Given the description of an element on the screen output the (x, y) to click on. 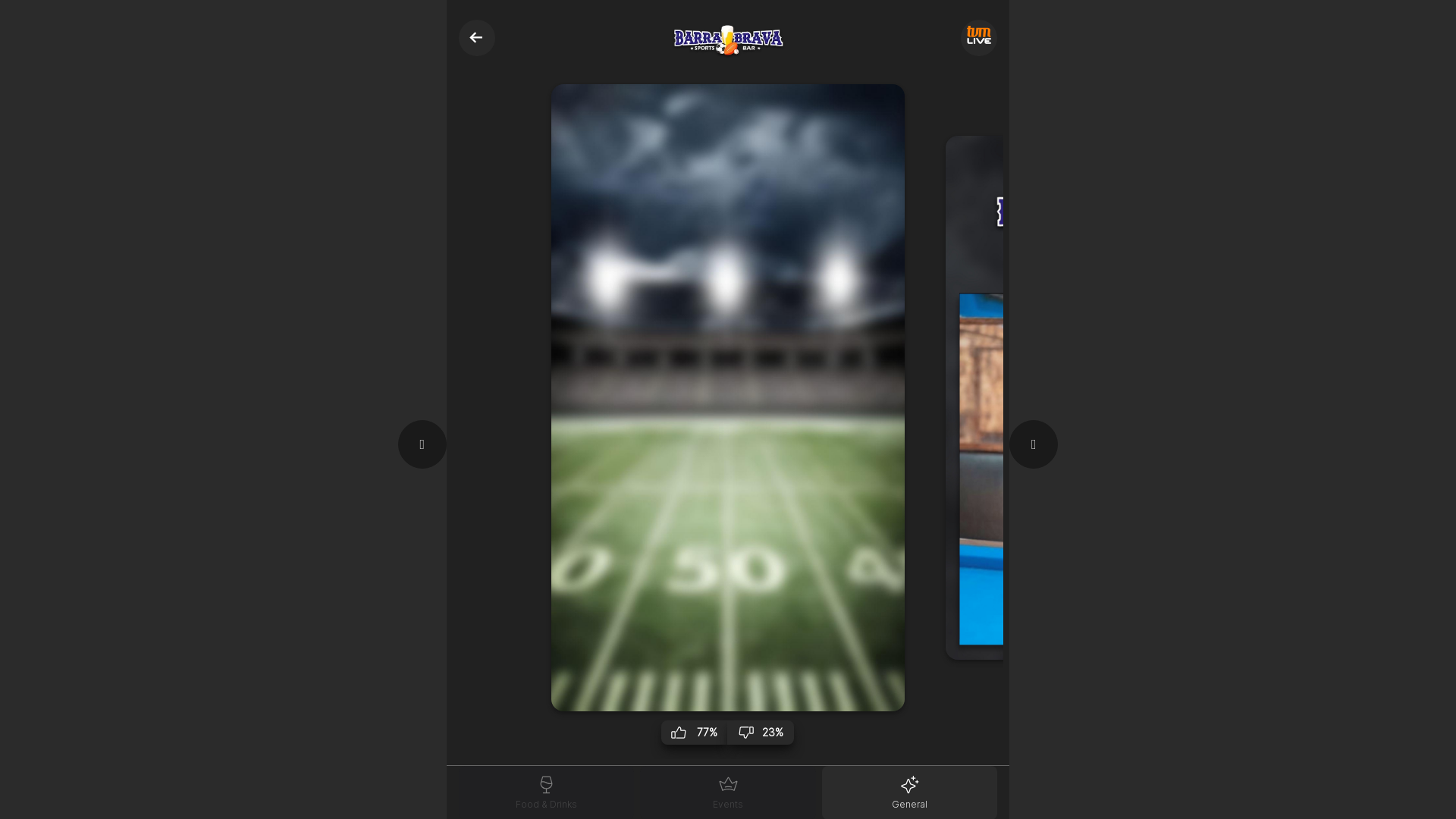
77% Element type: text (694, 732)
100% Element type: text (1059, 680)
0% Element type: text (1125, 680)
23% Element type: text (760, 732)
Back to Home Element type: hover (476, 37)
